Given the description of an element on the screen output the (x, y) to click on. 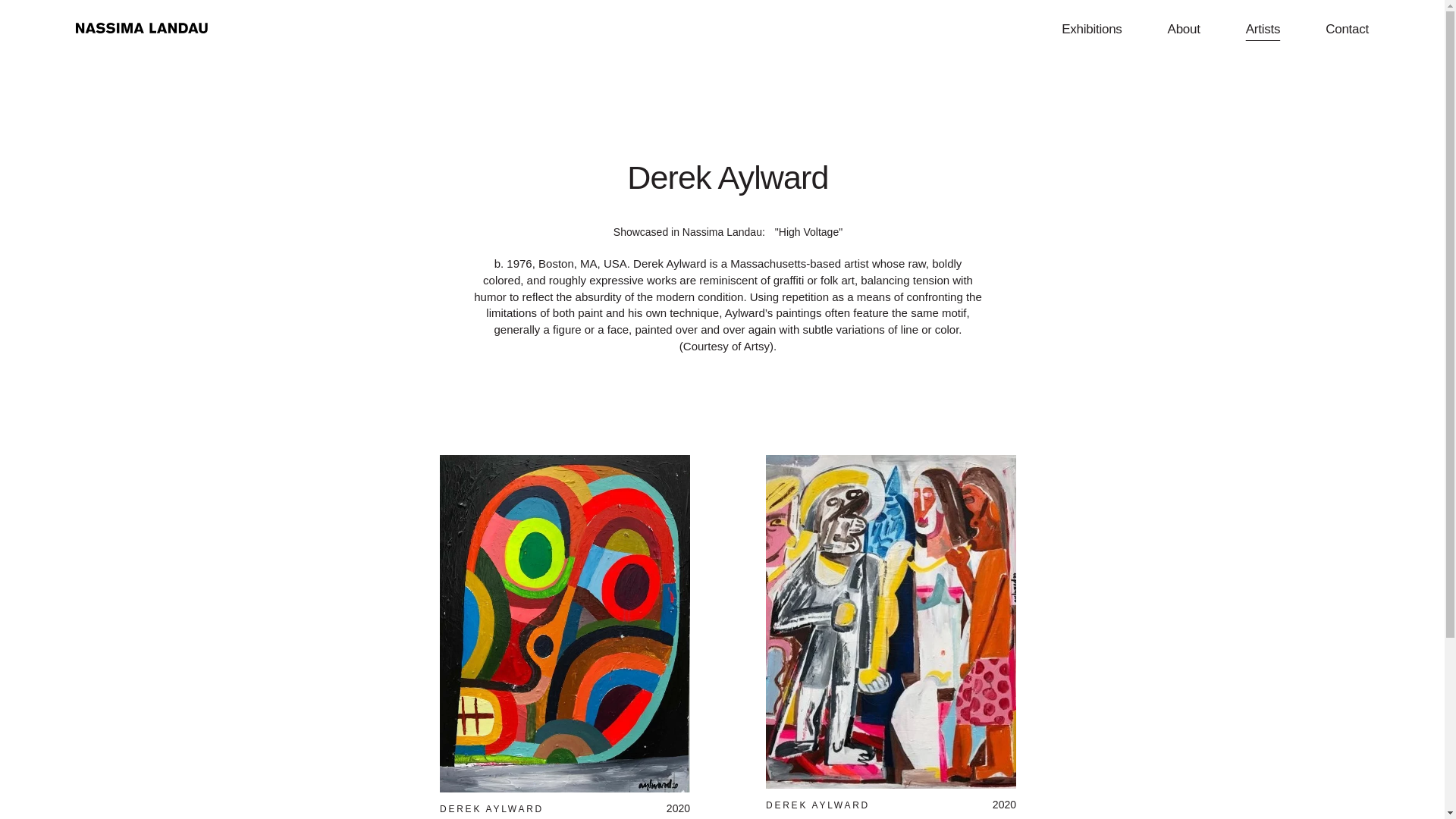
About (1183, 29)
High Voltage (808, 231)
Contact (1346, 29)
DEREK AYLWARD (491, 808)
DEREK AYLWARD (817, 805)
Exhibitions (1091, 29)
Artists (1262, 29)
